Given the description of an element on the screen output the (x, y) to click on. 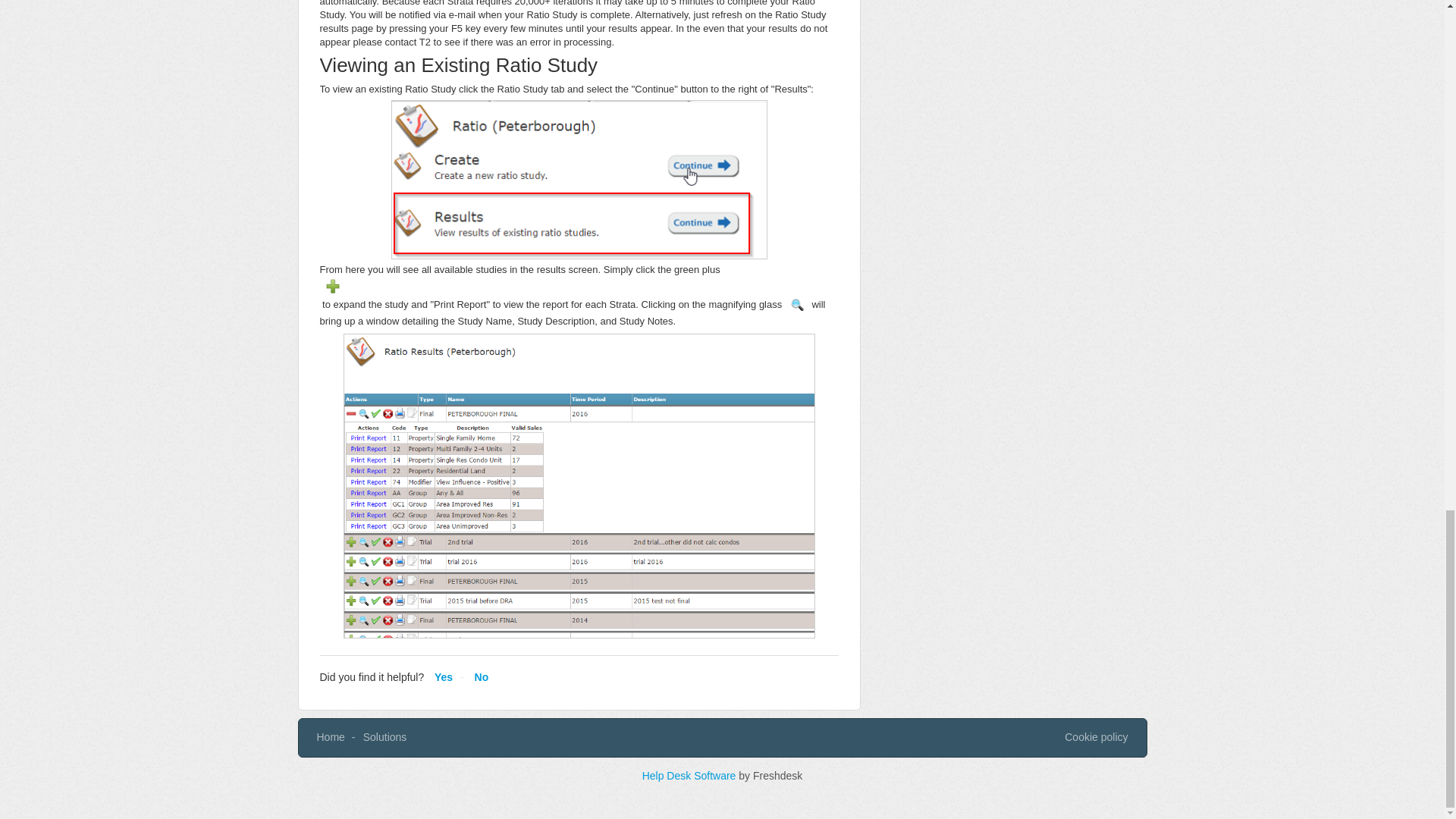
Why we love Cookies (1095, 737)
Solutions (384, 736)
Cookie policy (1095, 737)
Home (331, 736)
Help Desk Software (690, 775)
